Given the description of an element on the screen output the (x, y) to click on. 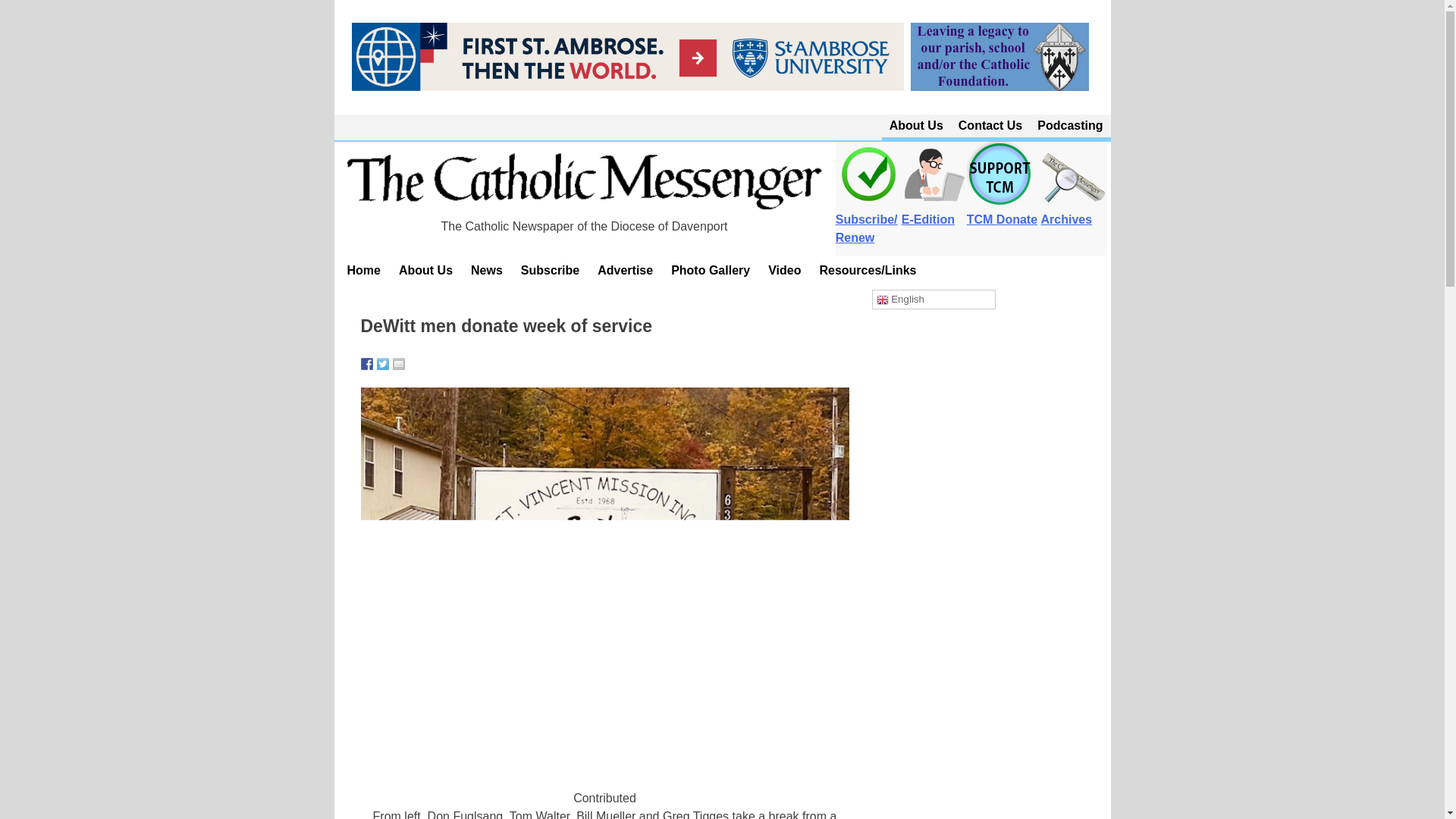
TCM Donate (1001, 210)
Share by email (398, 363)
Podcasting (1069, 125)
Share on Facebook (366, 363)
News (487, 270)
Contact Us (989, 125)
Share on Twitter (381, 363)
Archives (1073, 210)
About Us (425, 270)
Subscribe (549, 270)
Advertise (625, 270)
About Us (916, 125)
E-Edition (933, 210)
Home (363, 270)
